Given the description of an element on the screen output the (x, y) to click on. 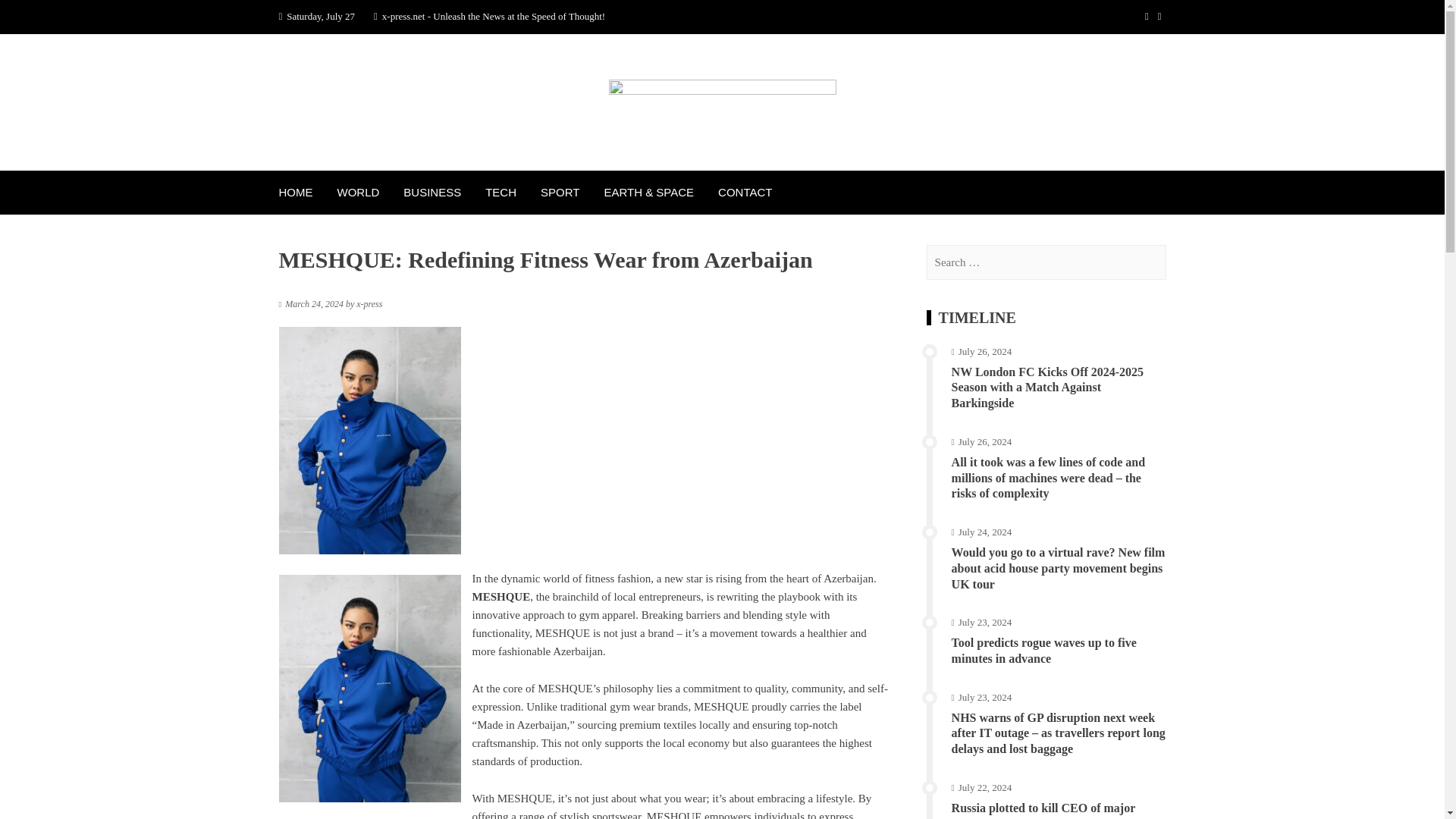
WORLD (357, 192)
MESHQUE (500, 596)
HOME (295, 192)
SPORT (559, 192)
CONTACT (745, 192)
Tool predicts rogue waves up to five minutes in advance (1044, 650)
TECH (500, 192)
Search (30, 16)
BUSINESS (432, 192)
